Given the description of an element on the screen output the (x, y) to click on. 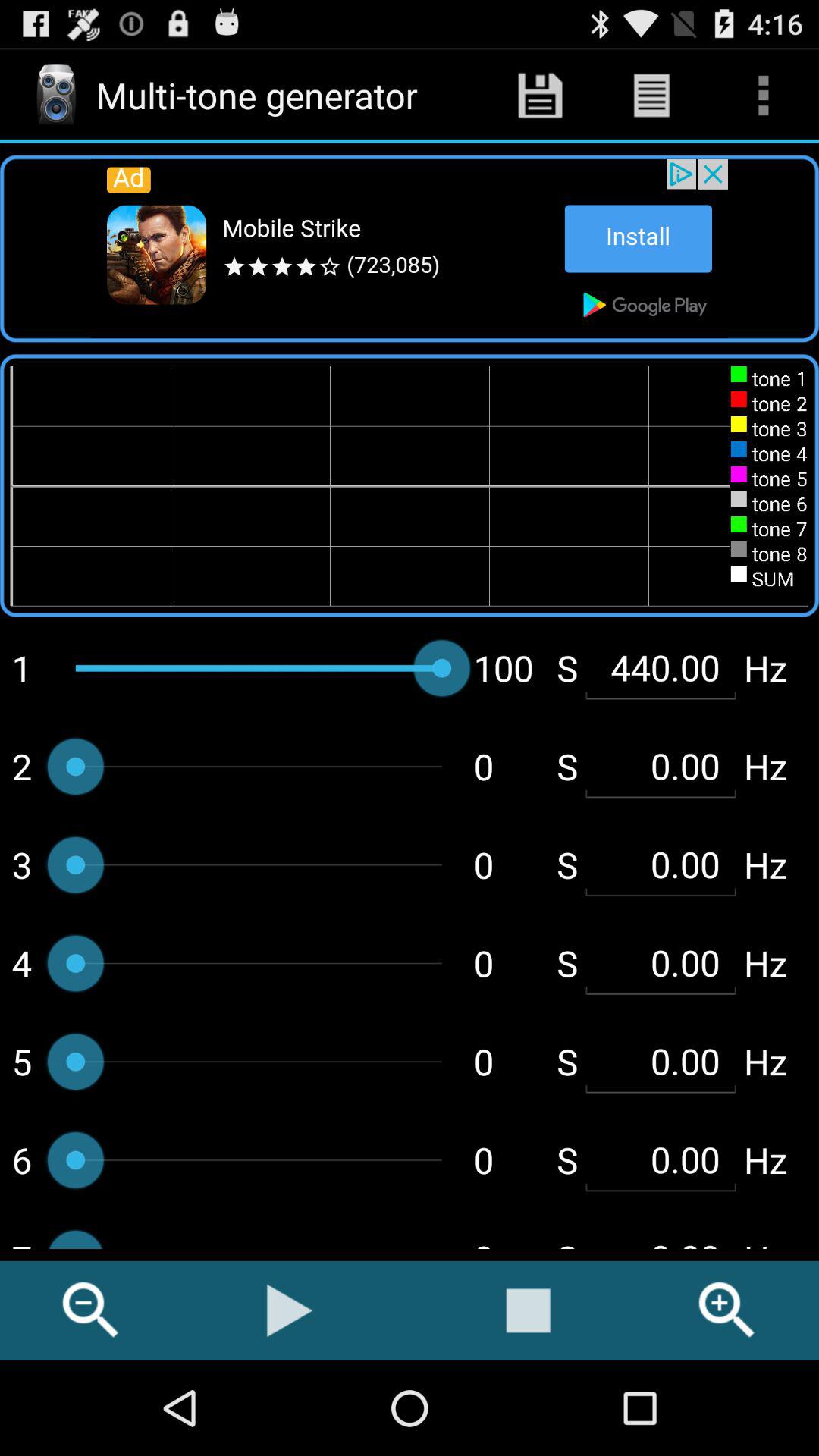
the icon left to play button at the bottom of the page (91, 1310)
the third 000 shown below 44000 (660, 963)
go to the multitone generator icon (55, 95)
go to second 000 shown below 44000 (660, 864)
